Given the description of an element on the screen output the (x, y) to click on. 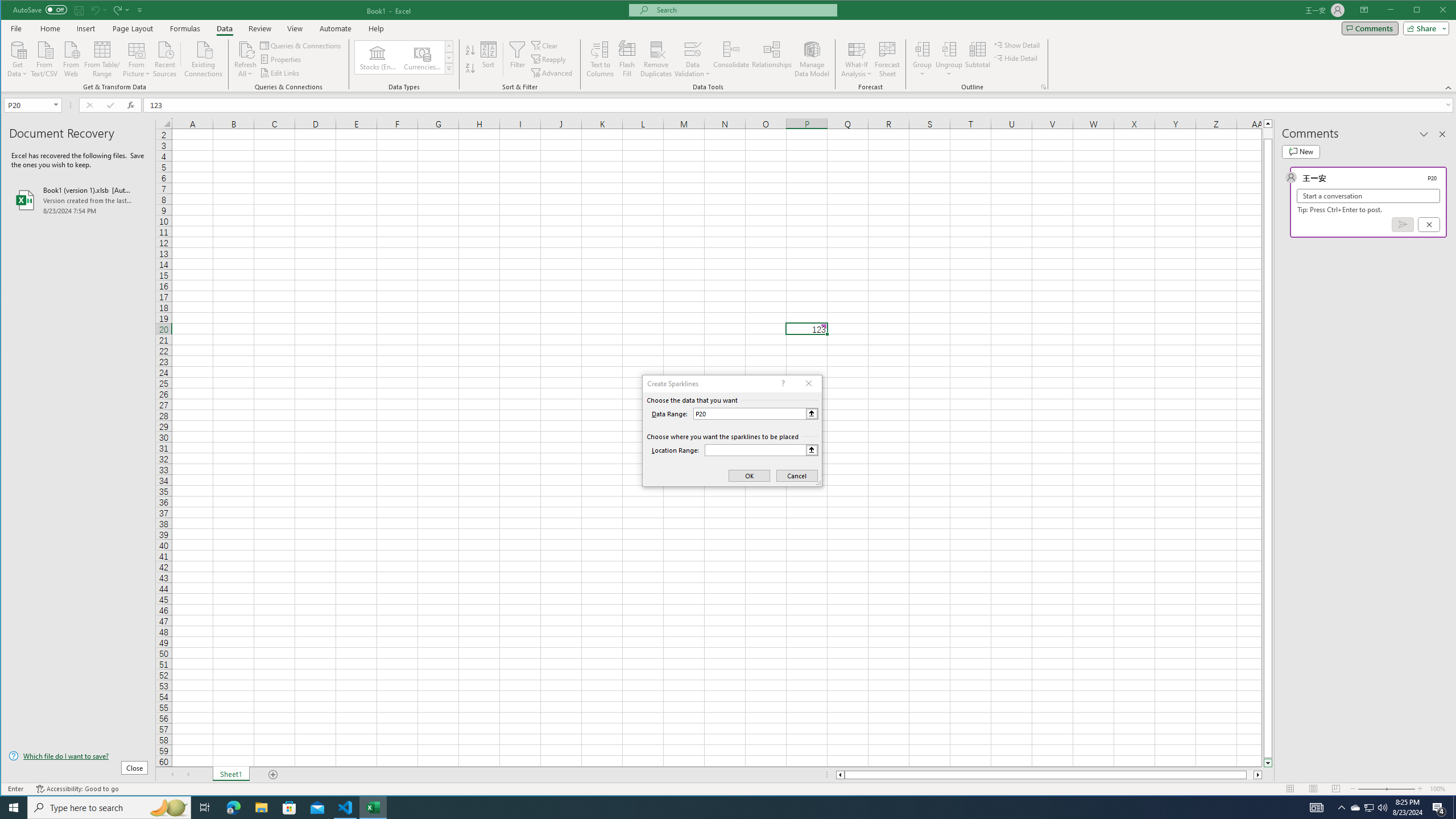
Remove Duplicates (655, 59)
Start a conversation (1368, 195)
Hide Detail (1016, 57)
Post comment (Ctrl + Enter) (1402, 224)
Existing Connections (203, 57)
